Given the description of an element on the screen output the (x, y) to click on. 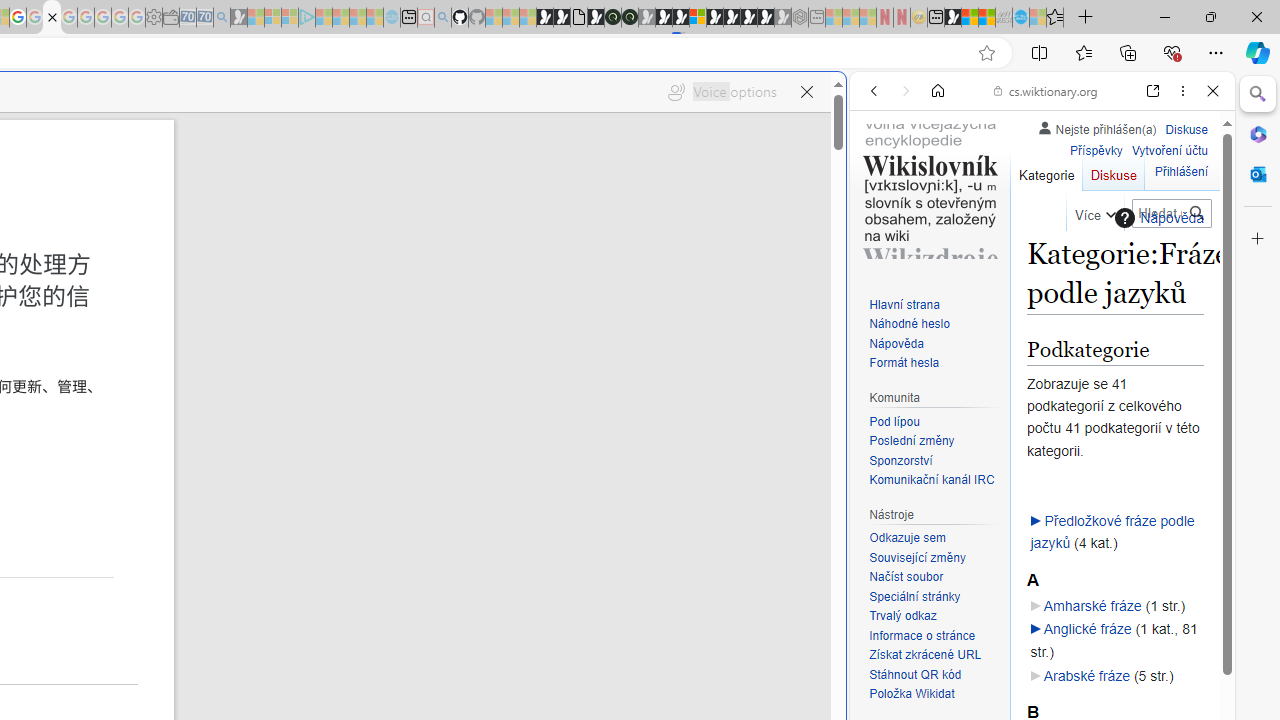
Home | Sky Blue Bikes - Sky Blue Bikes - Sleeping (392, 17)
Play Zoo Boom in your browser | Games from Microsoft Start (561, 17)
Search or enter web address (343, 191)
Future Focus Report 2024 (629, 17)
